Given the description of an element on the screen output the (x, y) to click on. 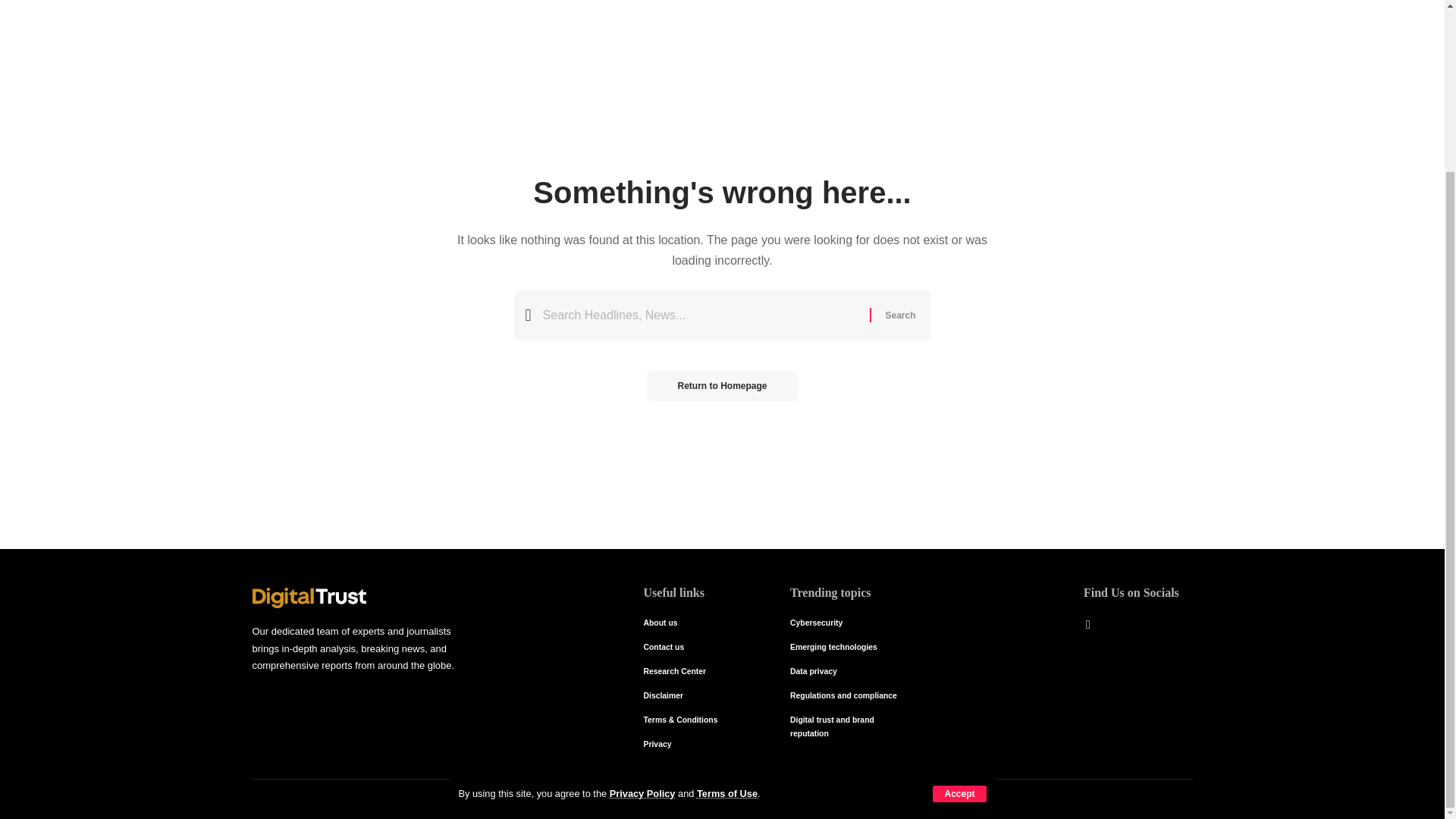
Search (899, 314)
Terms of Use (727, 586)
Accept (959, 586)
Privacy Policy (642, 586)
